Given the description of an element on the screen output the (x, y) to click on. 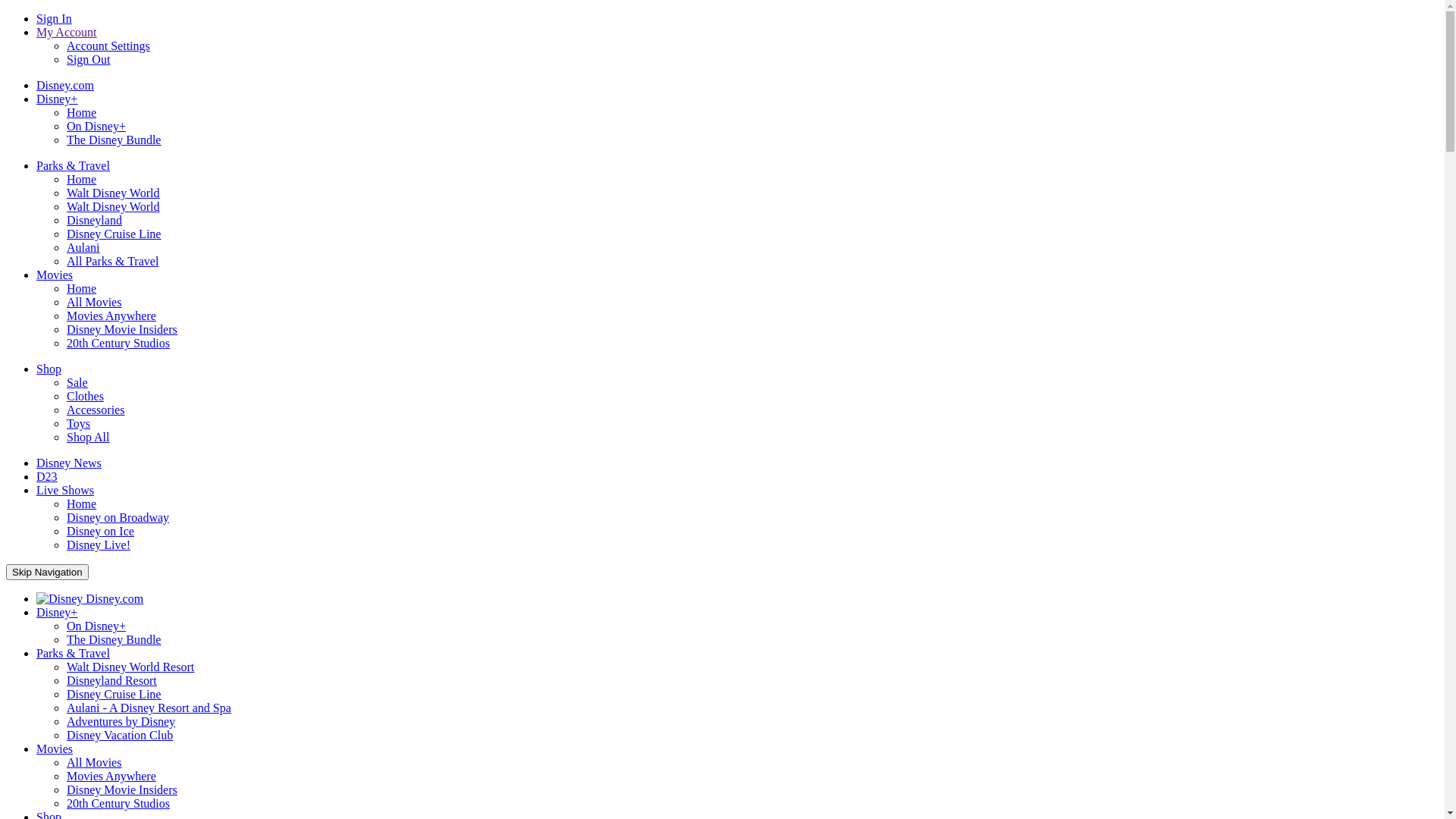
Disney Movie Insiders Element type: text (121, 789)
Home Element type: text (81, 178)
Disney.com Element type: text (89, 598)
Disney Live! Element type: text (98, 544)
Clothes Element type: text (84, 395)
Shop Element type: text (48, 368)
Movies Element type: text (54, 748)
Disney on Broadway Element type: text (117, 517)
My Account Element type: text (66, 31)
Disney+ Element type: text (56, 611)
20th Century Studios Element type: text (117, 803)
20th Century Studios Element type: text (117, 342)
The Disney Bundle Element type: text (113, 139)
Sign Out Element type: text (87, 59)
Disney Cruise Line Element type: text (113, 693)
All Movies Element type: text (93, 762)
Movies Anywhere Element type: text (111, 315)
Movies Element type: text (54, 274)
Shop All Element type: text (87, 436)
Walt Disney World Element type: text (112, 206)
Disney Movie Insiders Element type: text (121, 329)
Aulani - A Disney Resort and Spa Element type: text (148, 707)
Disney on Ice Element type: text (100, 530)
All Movies Element type: text (93, 301)
Disney News Element type: text (68, 462)
All Parks & Travel Element type: text (112, 260)
Accessories Element type: text (95, 409)
Toys Element type: text (78, 423)
Skip Navigation Element type: text (47, 572)
Disney+ Element type: text (56, 98)
Disney Vacation Club Element type: text (119, 734)
On Disney+ Element type: text (95, 125)
Walt Disney World Resort Element type: text (130, 666)
The Disney Bundle Element type: text (113, 639)
Disneyland Resort Element type: text (111, 680)
Sale Element type: text (76, 382)
Home Element type: text (81, 112)
On Disney+ Element type: text (95, 625)
Parks & Travel Element type: text (72, 652)
Aulani Element type: text (83, 247)
Movies Anywhere Element type: text (111, 775)
Home Element type: text (81, 503)
Parks & Travel Element type: text (72, 165)
Disneyland Element type: text (94, 219)
Account Settings Element type: text (108, 45)
Sign In Element type: text (54, 18)
Disney.com Element type: text (65, 84)
Live Shows Element type: text (65, 489)
Disney Cruise Line Element type: text (113, 233)
Home Element type: text (81, 288)
Walt Disney World Element type: text (112, 192)
Adventures by Disney Element type: text (120, 721)
D23 Element type: text (46, 476)
